Given the description of an element on the screen output the (x, y) to click on. 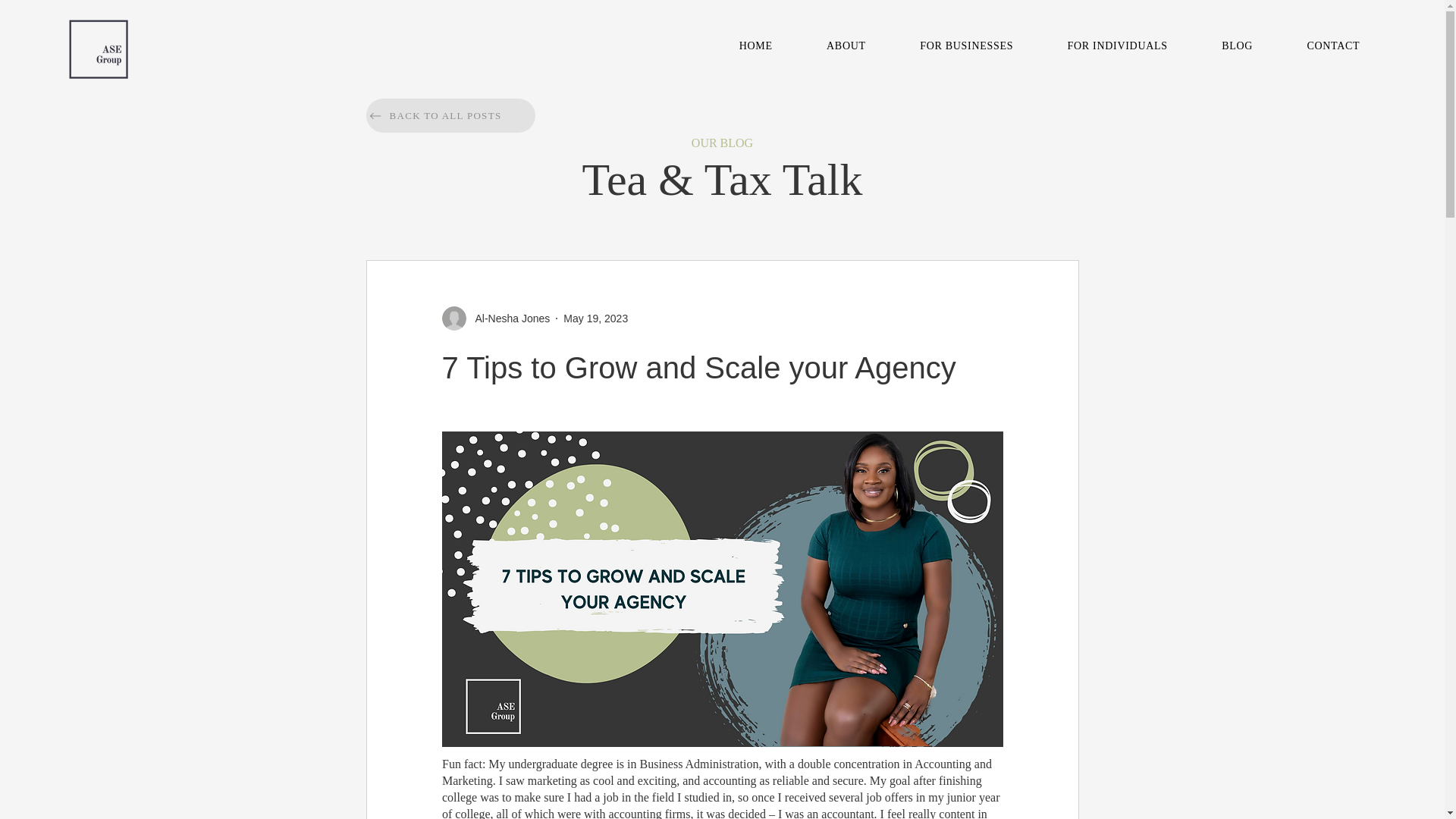
BLOG (1236, 45)
1.png (98, 48)
FOR BUSINESSES (965, 45)
May 19, 2023 (1049, 45)
ABOUT (595, 318)
BACK TO ALL POSTS (845, 45)
CONTACT (449, 115)
HOME (1333, 45)
FOR INDIVIDUALS (755, 45)
Al-Nesha Jones (1117, 45)
Al-Nesha Jones (507, 318)
